Given the description of an element on the screen output the (x, y) to click on. 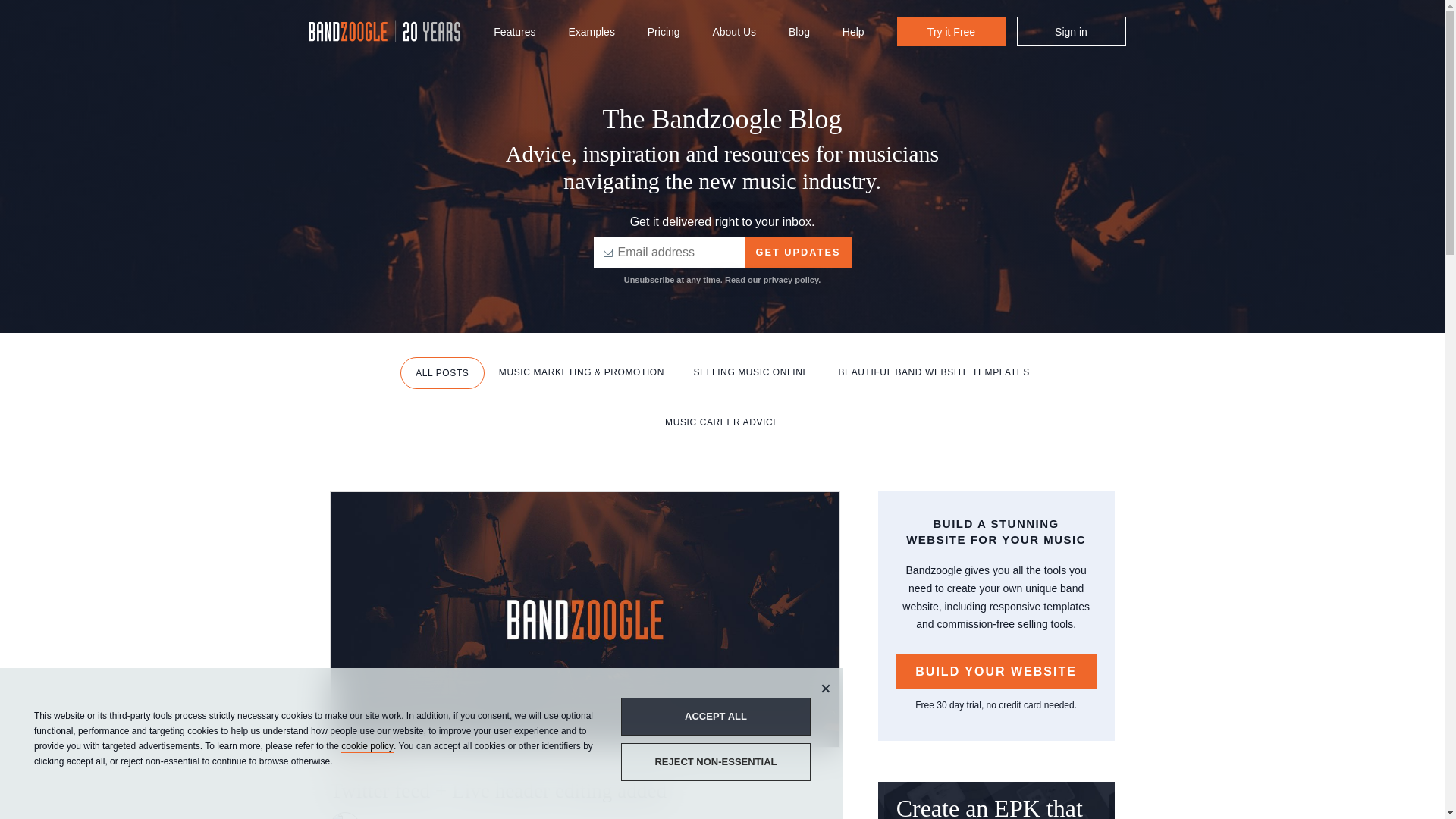
About Us (733, 33)
Features (514, 33)
Blog (799, 33)
Help (853, 33)
Pricing (663, 33)
Examples (590, 33)
